Given the description of an element on the screen output the (x, y) to click on. 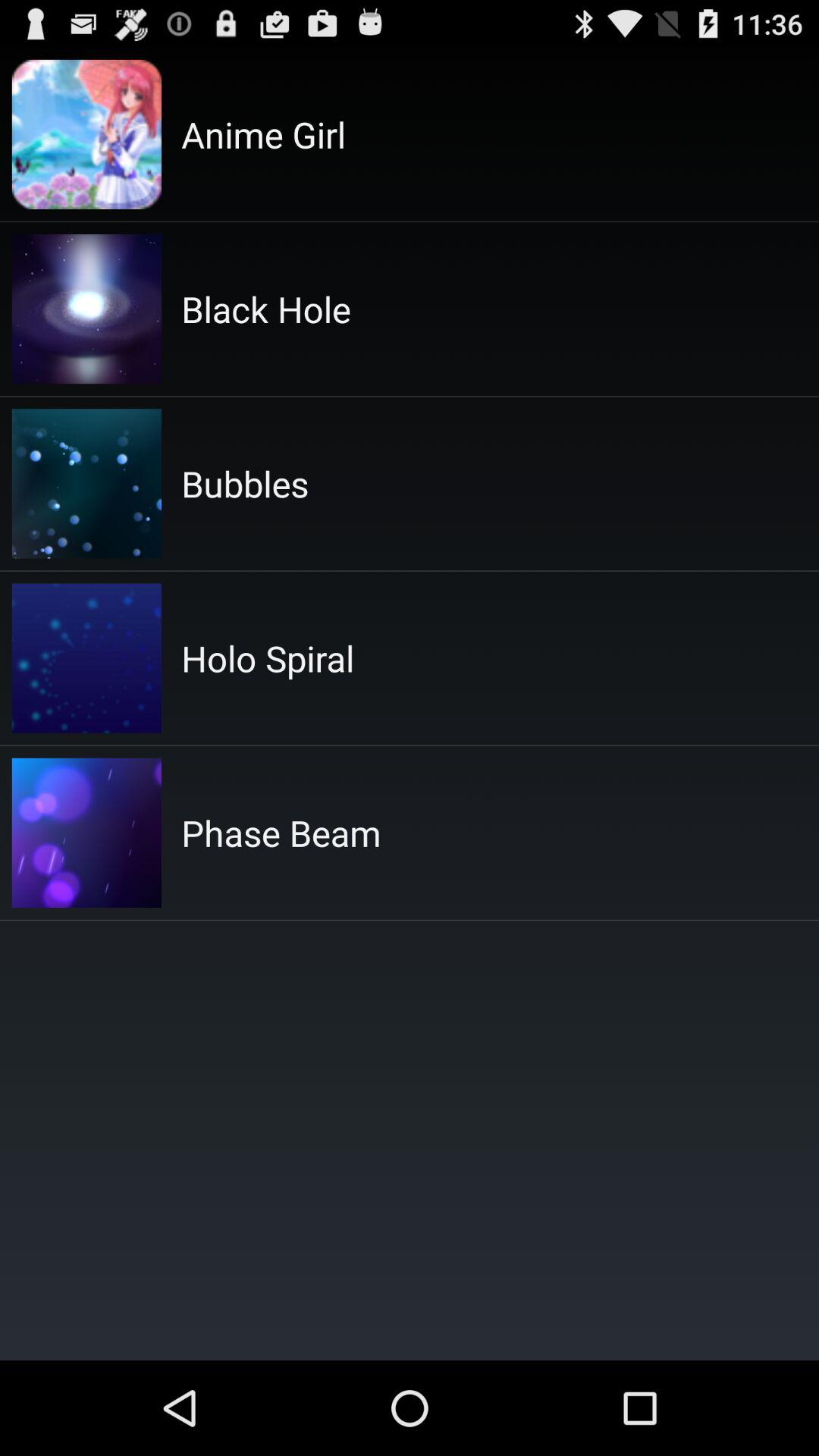
open the bubbles app (244, 483)
